Given the description of an element on the screen output the (x, y) to click on. 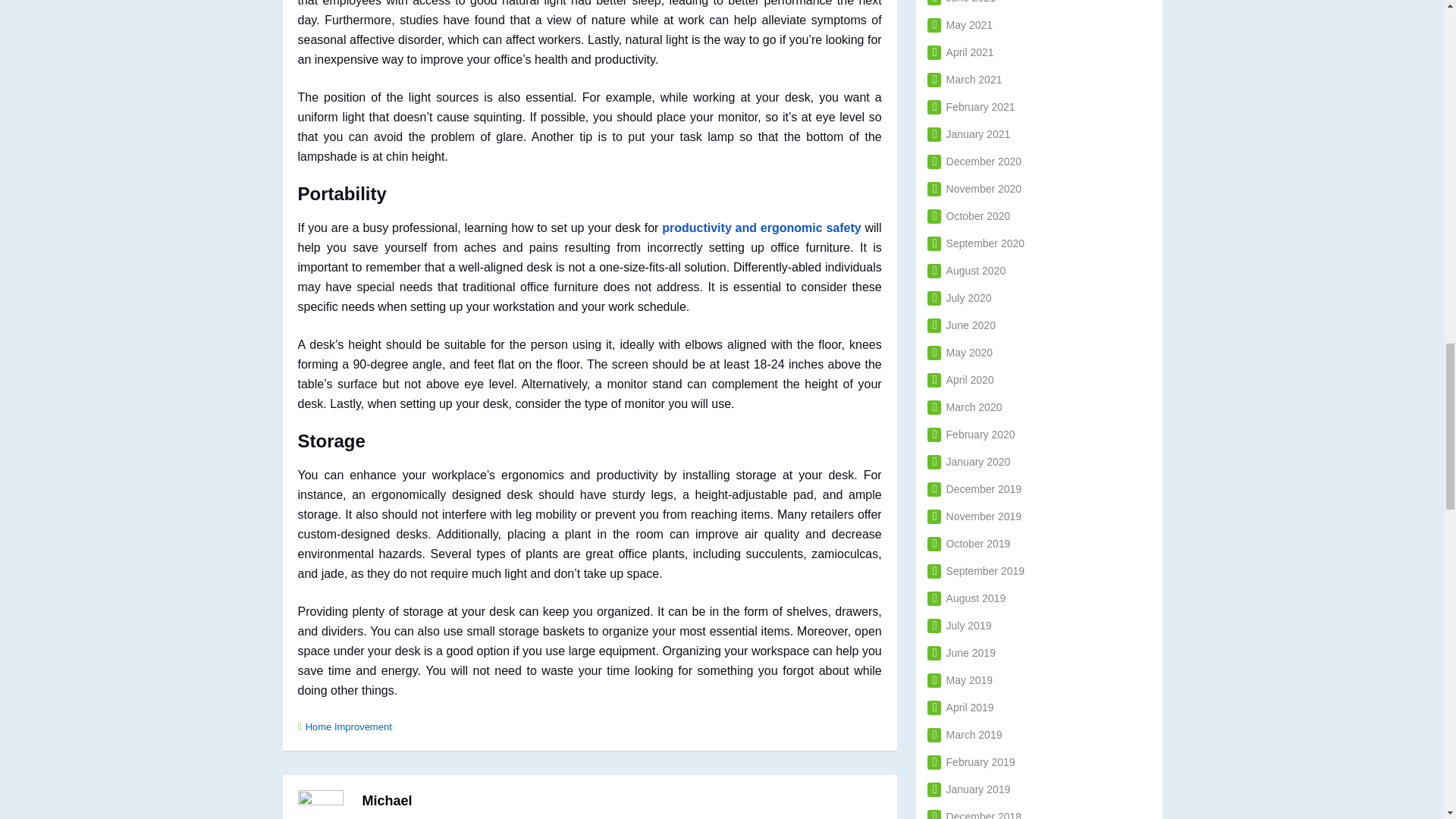
productivity and ergonomic safety (761, 227)
Michael (387, 800)
Home Improvement (348, 726)
